Given the description of an element on the screen output the (x, y) to click on. 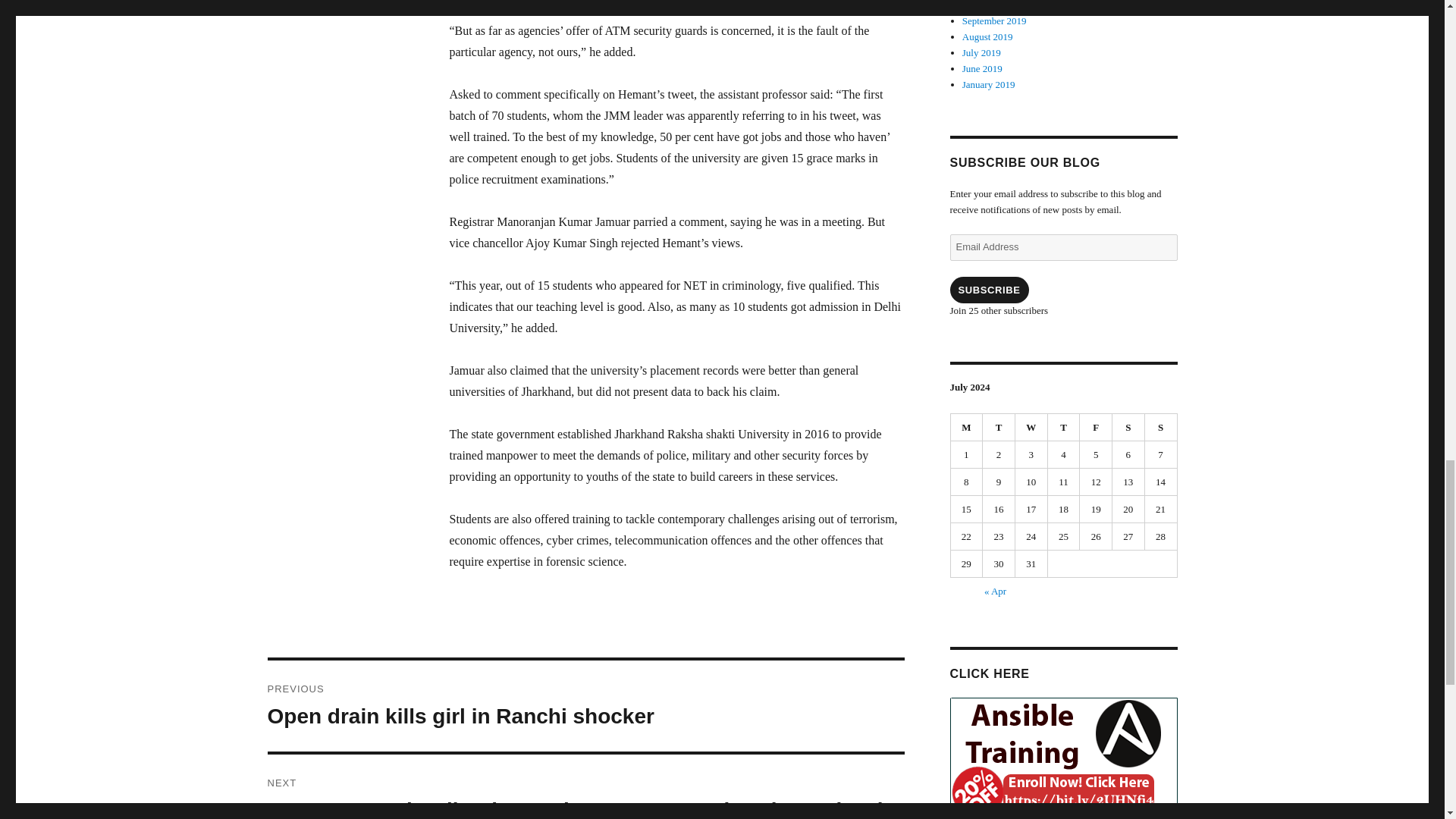
Saturday (1128, 427)
Sunday (1160, 427)
Friday (1096, 427)
Wednesday (1031, 427)
Thursday (1064, 427)
Monday (967, 427)
Tuesday (998, 427)
